Given the description of an element on the screen output the (x, y) to click on. 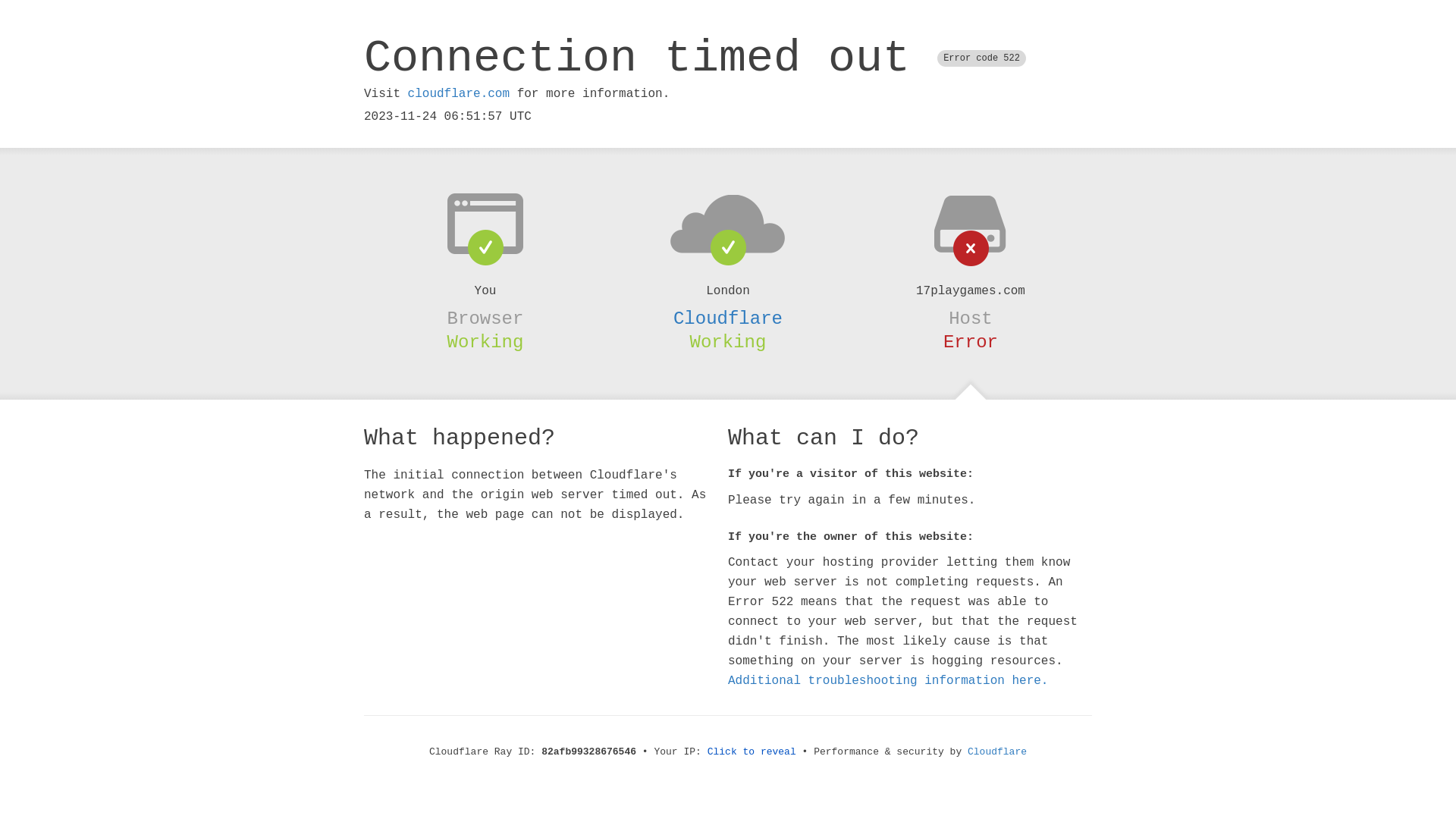
Cloudflare Element type: text (996, 751)
Click to reveal Element type: text (751, 751)
Cloudflare Element type: text (727, 318)
Additional troubleshooting information here. Element type: text (888, 680)
cloudflare.com Element type: text (458, 93)
